Given the description of an element on the screen output the (x, y) to click on. 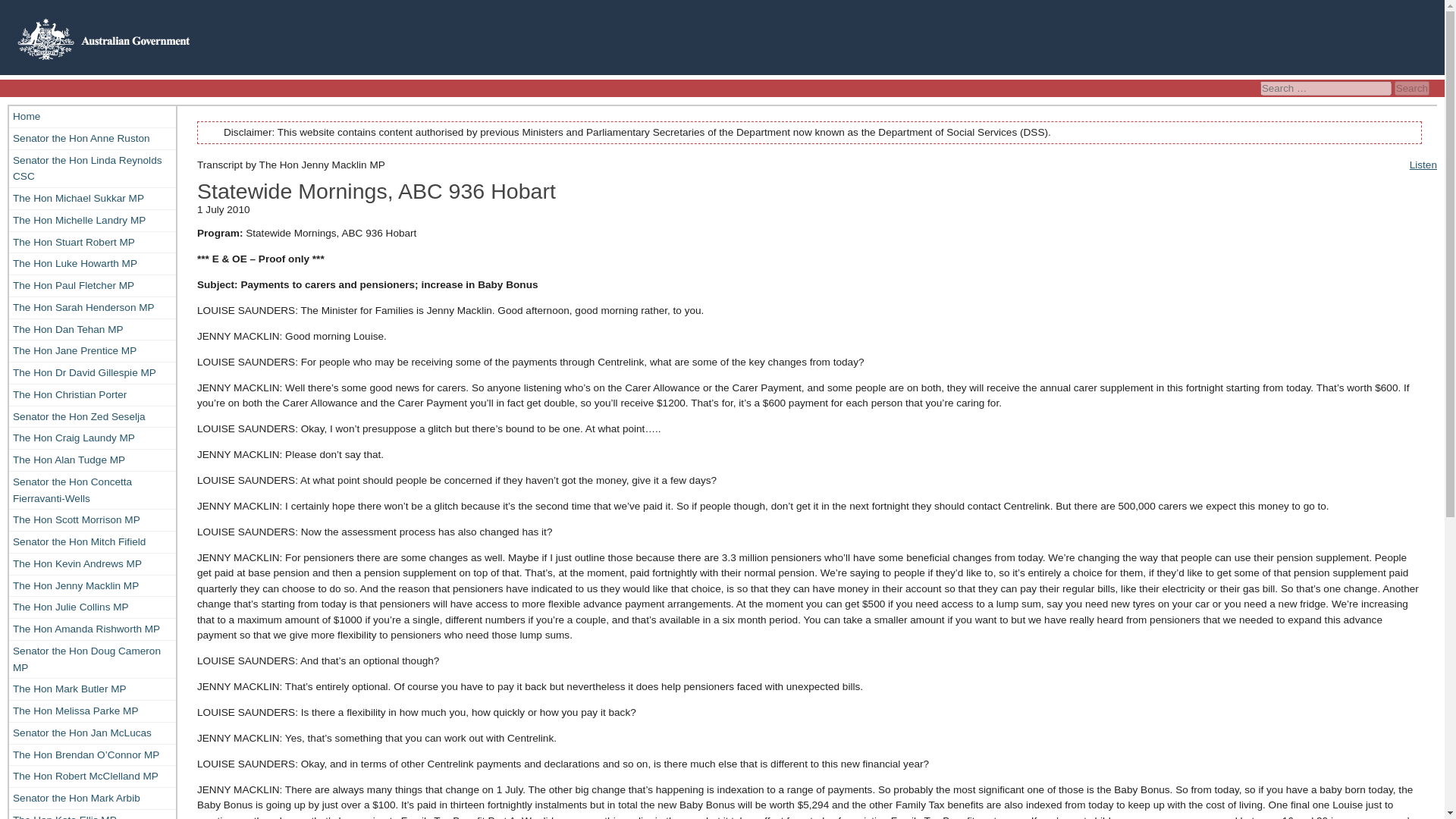
The Hon Jane Prentice MP (92, 350)
Search (1411, 88)
Senator the Hon Anne Ruston (92, 138)
Search (1411, 88)
Senator the Hon Linda Reynolds CSC (92, 168)
The Hon Stuart Robert MP (92, 242)
The Hon Dan Tehan MP (92, 328)
The Hon Luke Howarth MP (92, 263)
The Hon Paul Fletcher MP (92, 285)
The Hon Michael Sukkar MP (92, 198)
